Given the description of an element on the screen output the (x, y) to click on. 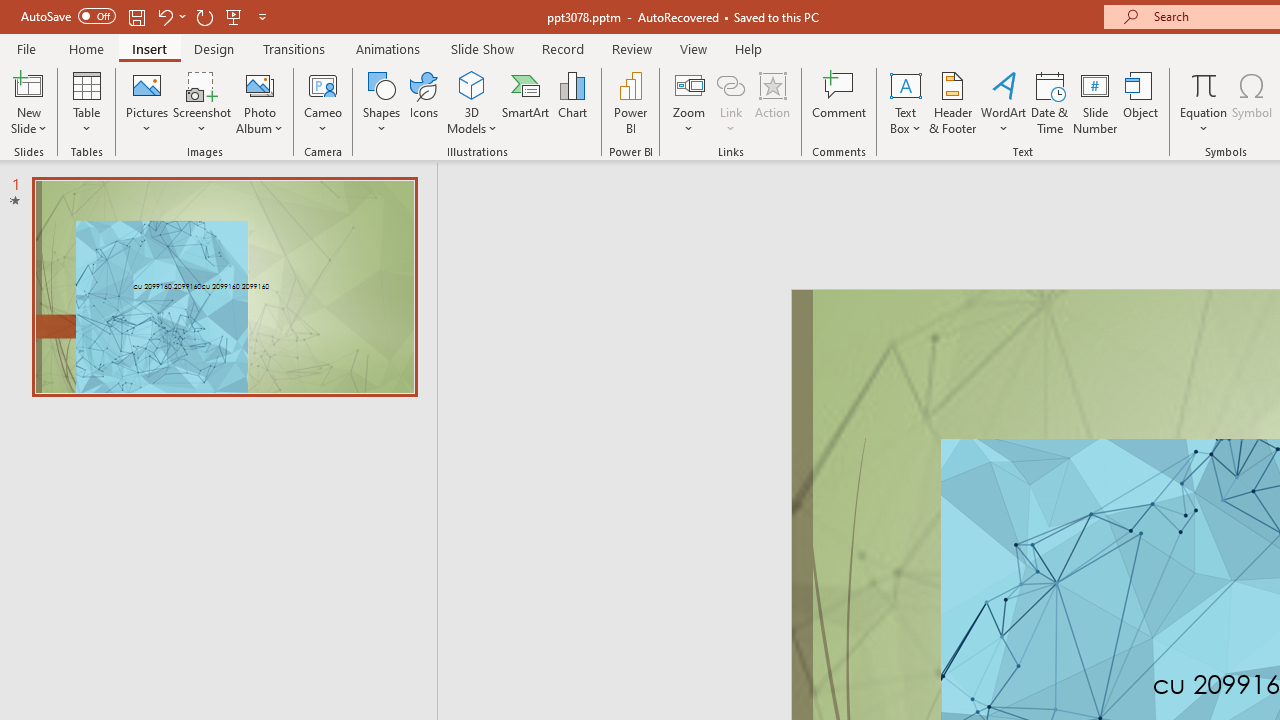
Action (772, 102)
WordArt (1004, 102)
Draw Horizontal Text Box (905, 84)
SmartArt... (525, 102)
Date & Time... (1050, 102)
Icons (424, 102)
Comment (839, 102)
